Given the description of an element on the screen output the (x, y) to click on. 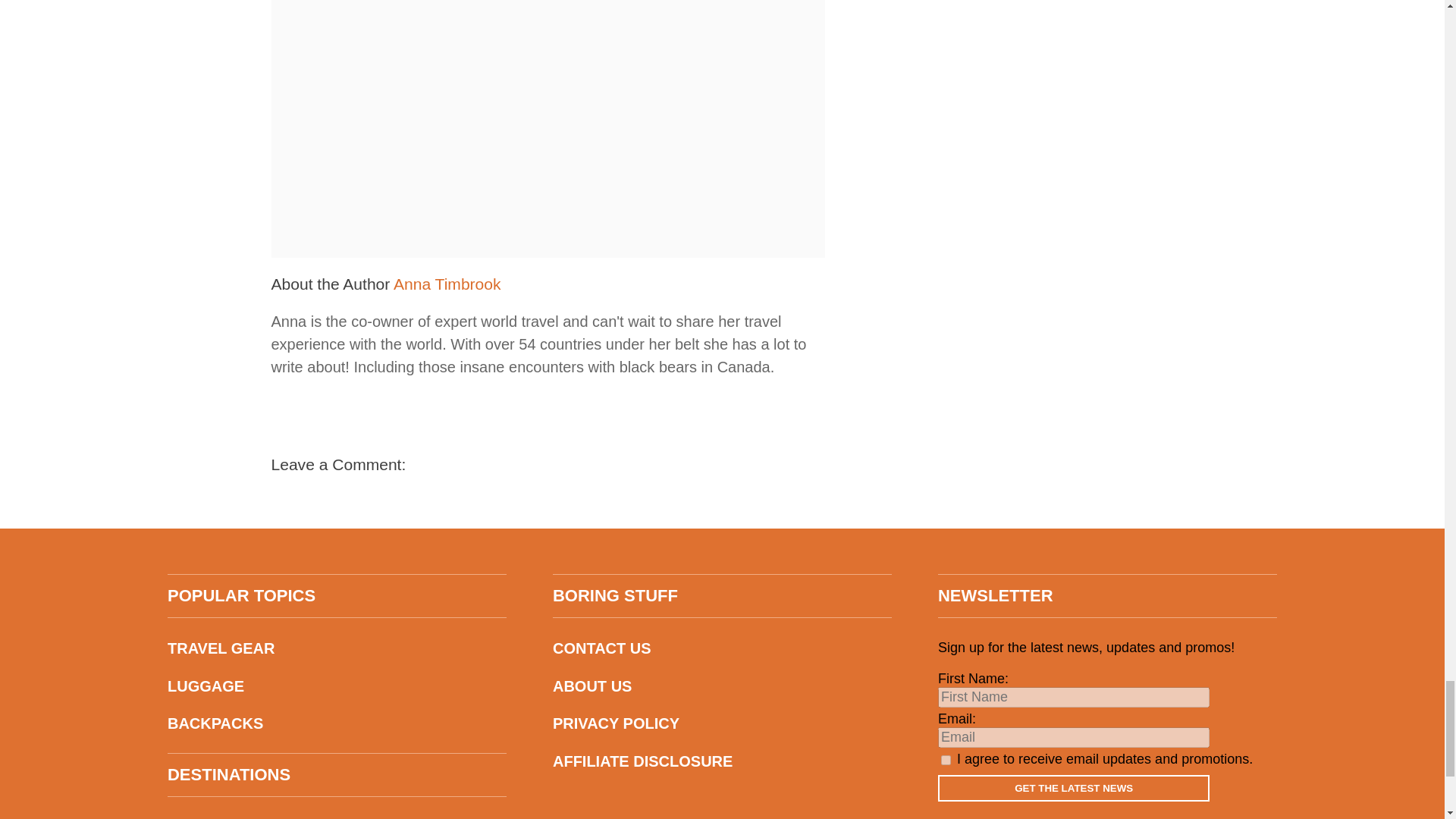
1 (945, 759)
Anna Timbrook (446, 283)
BACKPACKS (336, 723)
LUGGAGE (336, 686)
TRAVEL GEAR (336, 648)
